Given the description of an element on the screen output the (x, y) to click on. 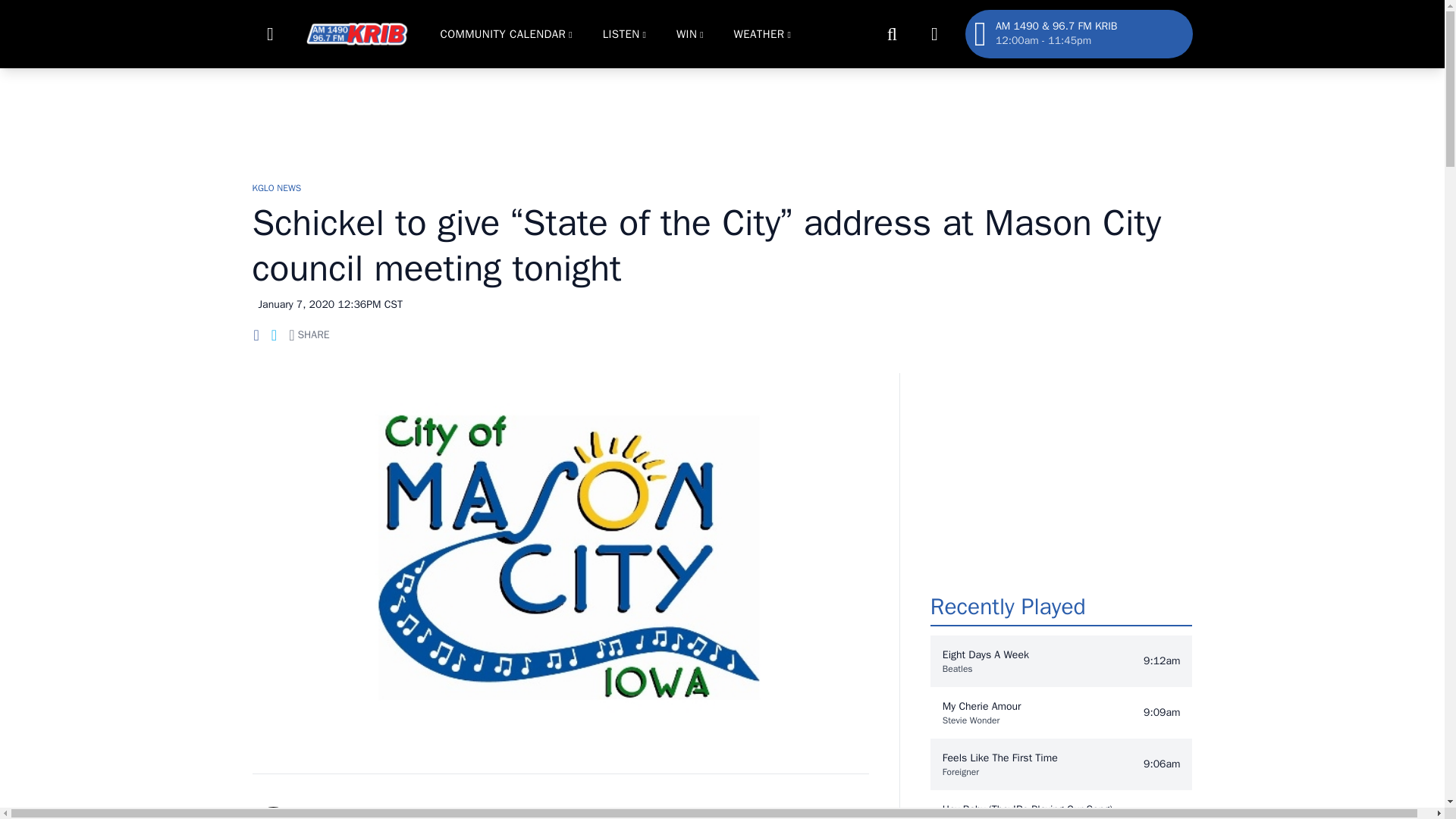
3rd party ad content (721, 117)
COMMUNITY CALENDAR (502, 33)
1490 KRIB (355, 33)
3rd party ad content (1060, 467)
